Given the description of an element on the screen output the (x, y) to click on. 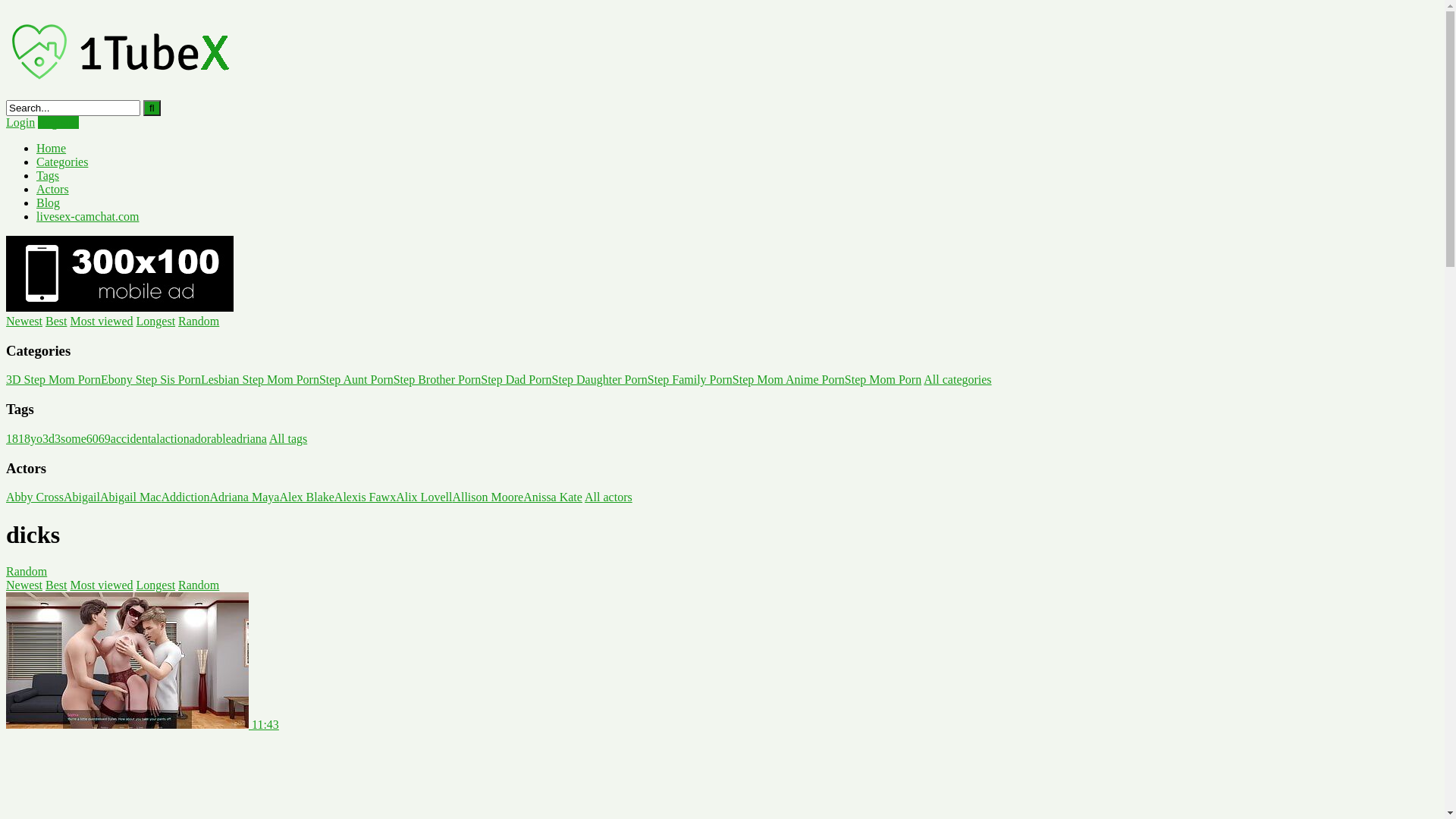
Random Element type: text (26, 570)
Categories Element type: text (61, 161)
Step Mom Porn Element type: text (882, 379)
1TubeX - Step-Fantasy Tube Site Element type: hover (119, 92)
Actors Element type: text (52, 188)
Longest Element type: text (155, 320)
All tags Element type: text (288, 438)
Skip to content Element type: text (5, 5)
60 Element type: text (92, 438)
livesex-camchat.com Element type: text (87, 216)
All actors Element type: text (608, 496)
Most viewed Element type: text (100, 320)
Best Element type: text (55, 584)
18 Element type: text (12, 438)
Lesbian Step Mom Porn Element type: text (259, 379)
Abigail Mac Element type: text (130, 496)
Addiction Element type: text (184, 496)
3some Element type: text (70, 438)
Alex Blake Element type: text (306, 496)
Register Element type: text (57, 122)
Alexis Fawx Element type: text (364, 496)
Step Family Porn Element type: text (689, 379)
3D Step Mom Porn Element type: text (53, 379)
Step Aunt Porn Element type: text (356, 379)
Step Mom Anime Porn Element type: text (788, 379)
Ebony Step Sis Porn Element type: text (150, 379)
Random Element type: text (198, 584)
Random Element type: text (198, 320)
Step Dad Porn Element type: text (515, 379)
Login Element type: text (20, 122)
Blog Element type: text (47, 202)
Alix Lovell Element type: text (423, 496)
adriana Element type: text (248, 438)
18yo Element type: text (30, 438)
Best Element type: text (55, 320)
Allison Moore Element type: text (487, 496)
Abigail Element type: text (81, 496)
Home Element type: text (50, 147)
action Element type: text (174, 438)
Newest Element type: text (24, 320)
accidental Element type: text (135, 438)
Step Brother Porn Element type: text (437, 379)
Abby Cross Element type: text (34, 496)
69 Element type: text (104, 438)
Newest Element type: text (24, 584)
adorable Element type: text (210, 438)
3d Element type: text (48, 438)
Tags Element type: text (47, 175)
Most viewed Element type: text (100, 584)
Step Daughter Porn Element type: text (599, 379)
All categories Element type: text (957, 379)
Adriana Maya Element type: text (244, 496)
Anissa Kate Element type: text (552, 496)
Longest Element type: text (155, 584)
